Given the description of an element on the screen output the (x, y) to click on. 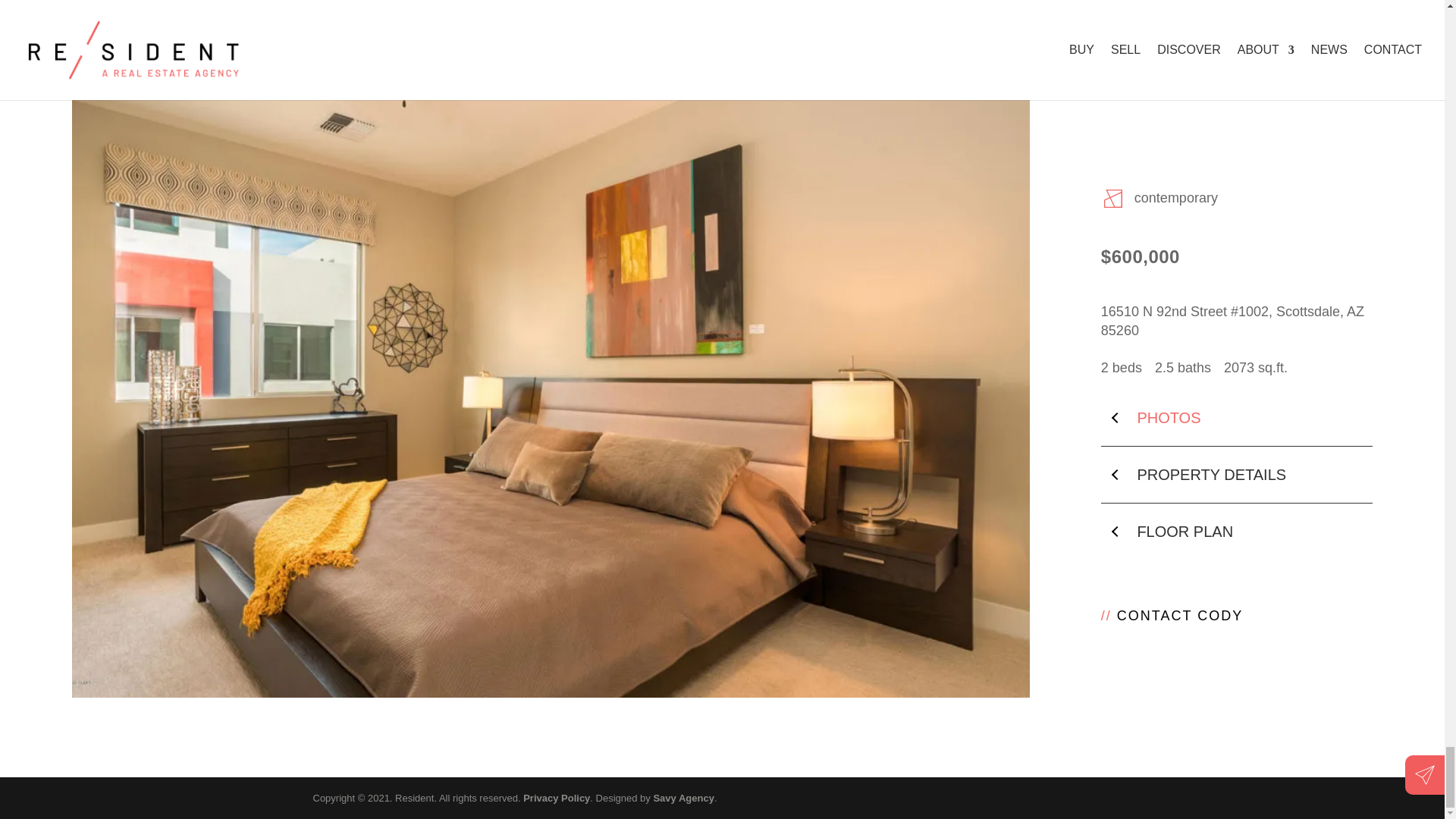
Savy Agency (682, 797)
Privacy Policy (555, 797)
